Given the description of an element on the screen output the (x, y) to click on. 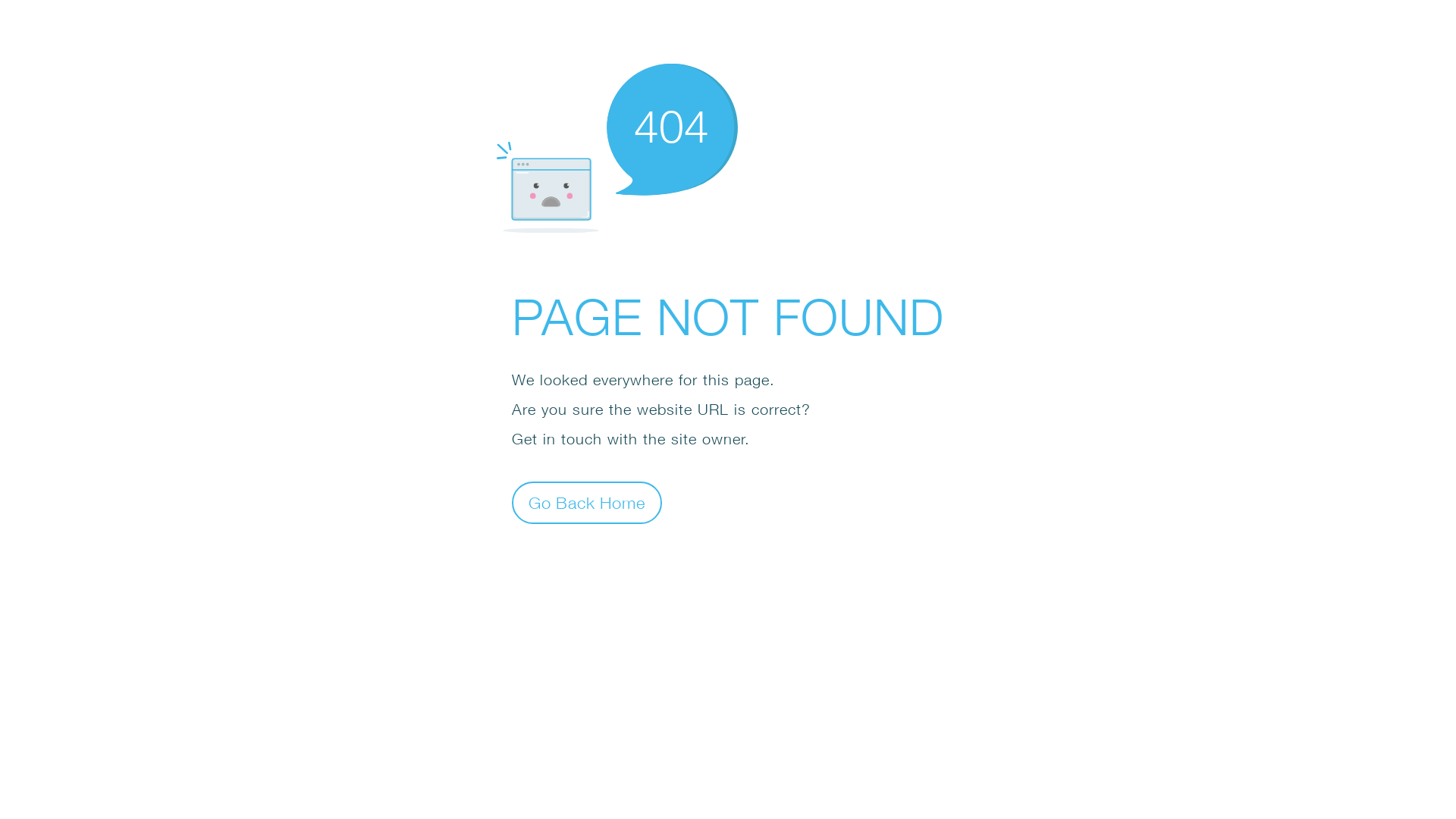
Go Back Home Element type: text (586, 502)
